Given the description of an element on the screen output the (x, y) to click on. 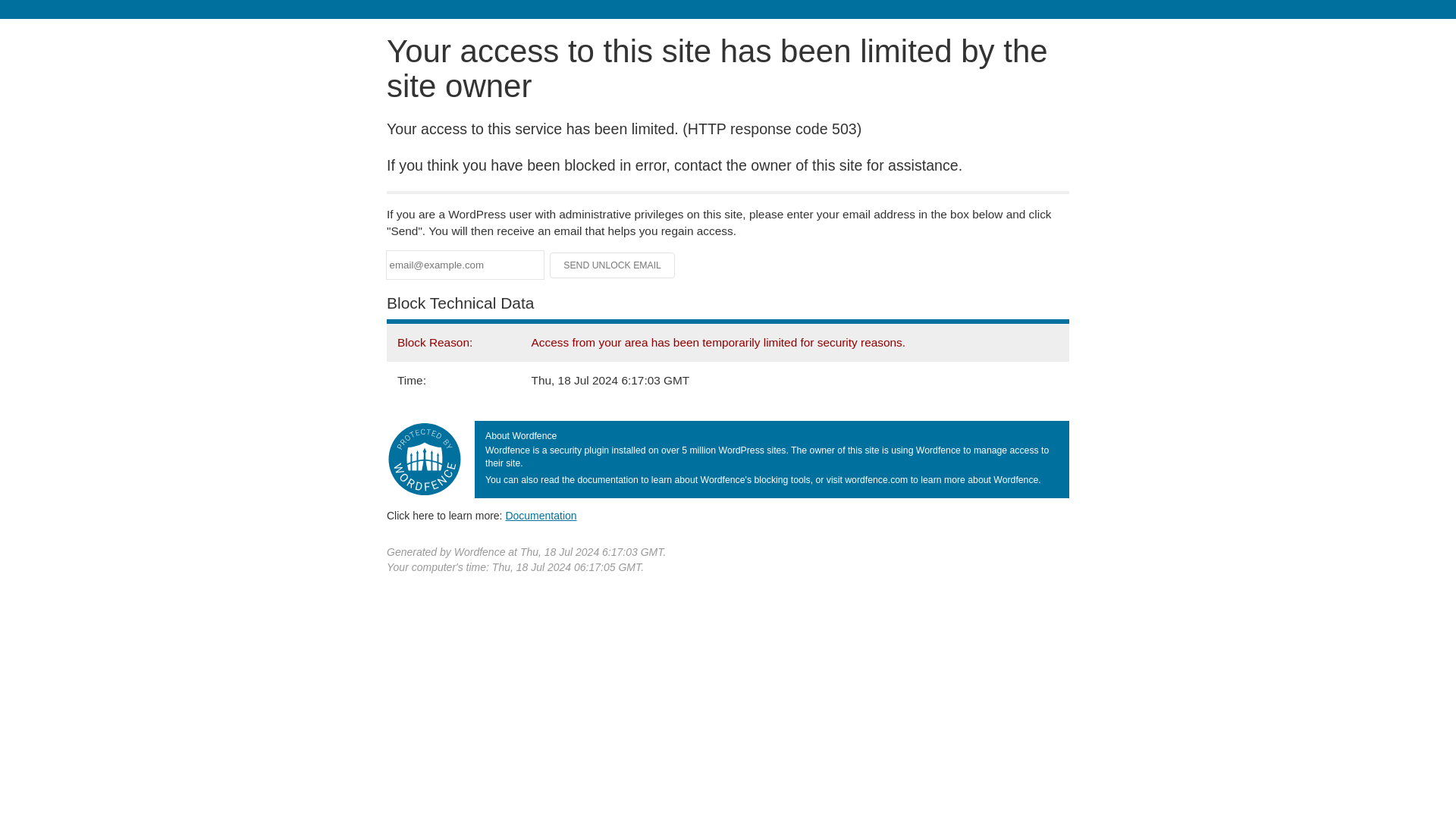
Send Unlock Email (612, 265)
Send Unlock Email (612, 265)
Documentation (540, 515)
